Given the description of an element on the screen output the (x, y) to click on. 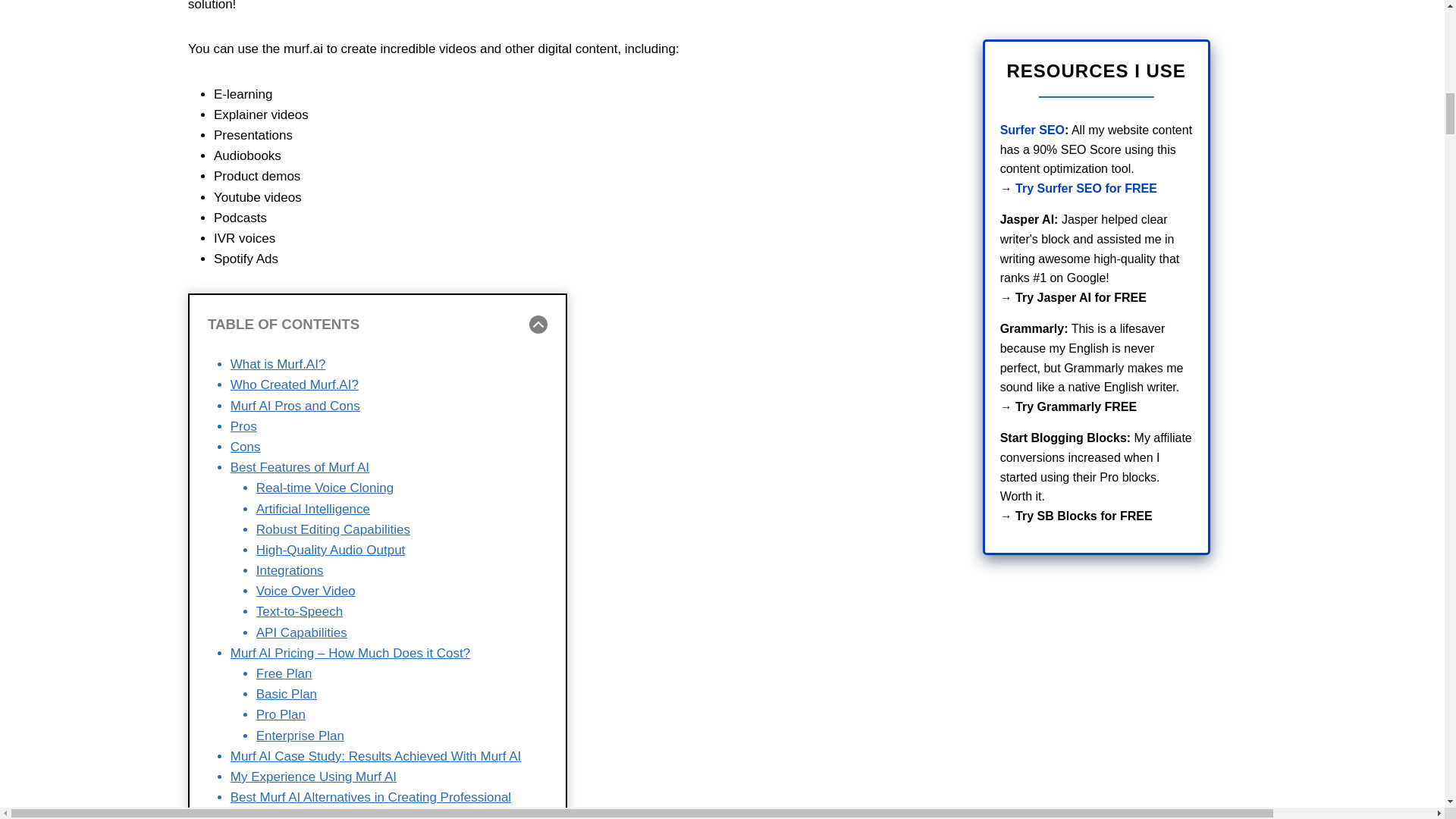
Robust Editing Capabilities (333, 529)
What is Murf.AI? (278, 364)
High-Quality Audio Output (331, 549)
Best Features of Murf AI (299, 467)
Murf AI Pros and Cons (294, 405)
Enterprise Plan (299, 735)
Pros (243, 426)
Who Created Murf.AI? (294, 384)
Cons (245, 446)
Voice Over Video (305, 590)
API Capabilities (301, 632)
Integrations (289, 570)
Artificial Intelligence (312, 509)
Free Plan (284, 673)
Pro Plan (280, 714)
